Given the description of an element on the screen output the (x, y) to click on. 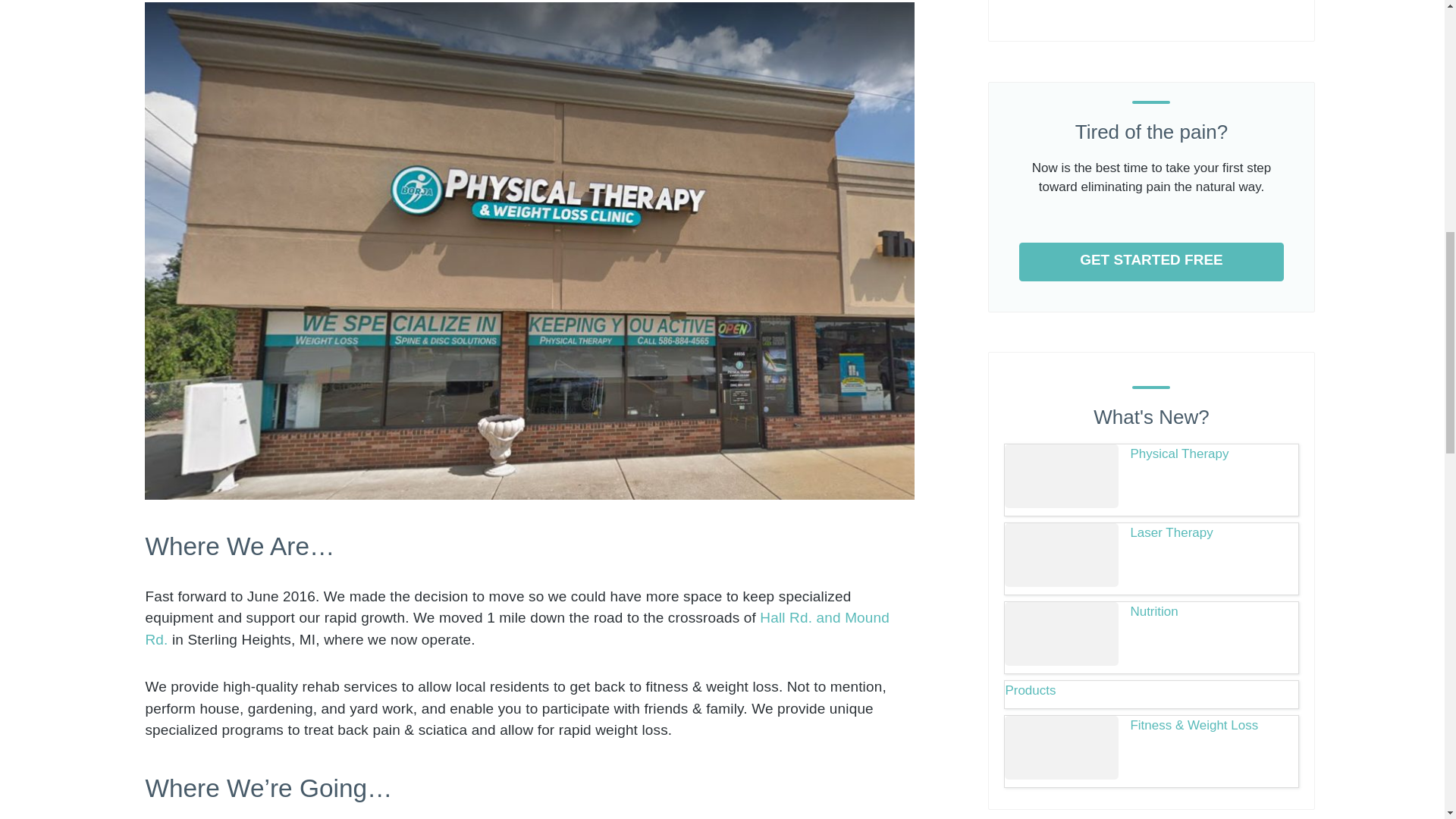
GET STARTED FREE (1150, 261)
Try our Free Discovery Visit (1150, 261)
Physical Therapy (1150, 454)
Hall Rd. and Mound Rd. (516, 628)
Laser Therapy (1150, 532)
